Given the description of an element on the screen output the (x, y) to click on. 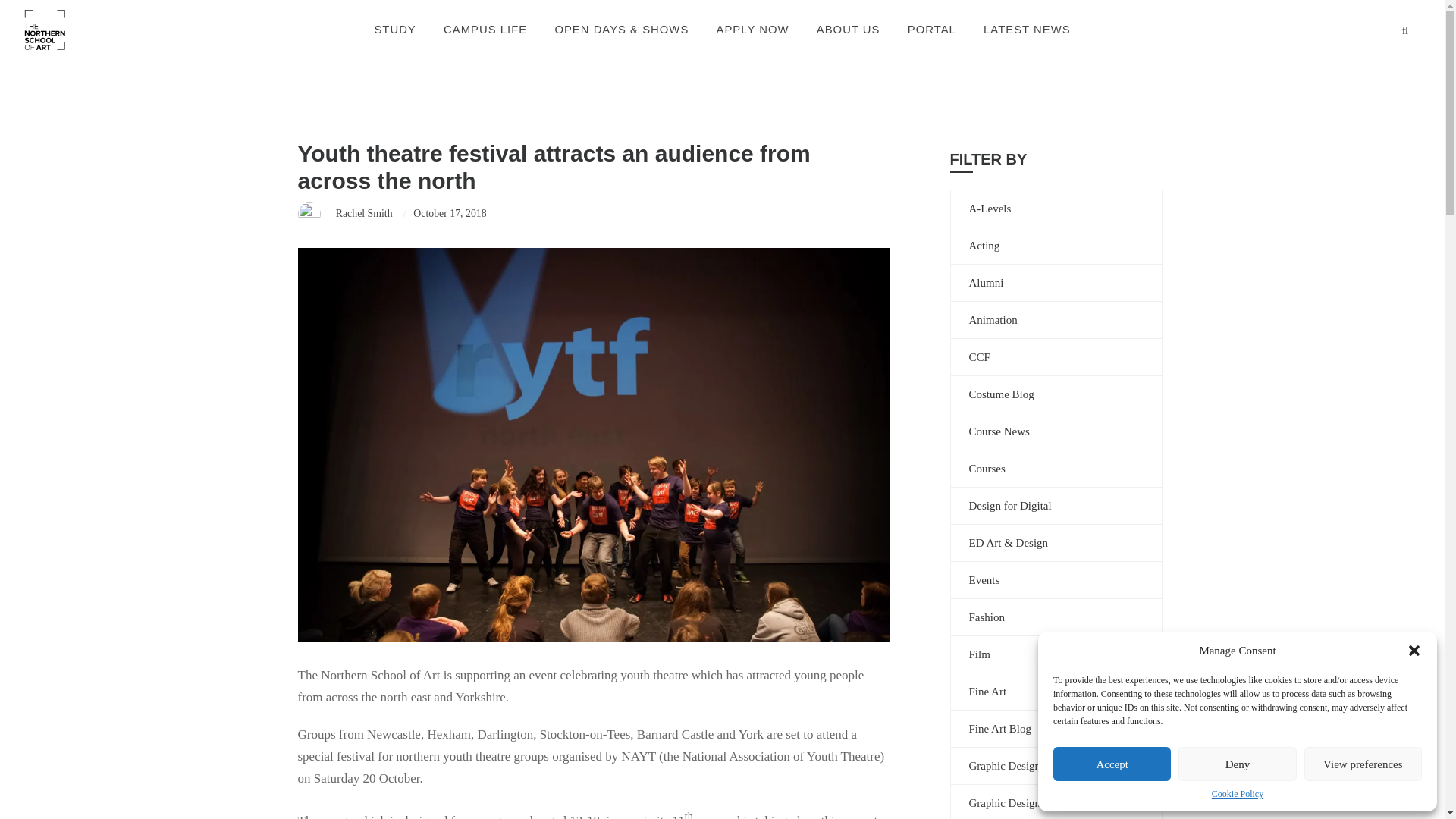
Deny (1236, 763)
Accept (1111, 763)
STUDY (394, 29)
View preferences (1363, 763)
CAMPUS LIFE (485, 29)
Cookie Policy (1237, 794)
